Given the description of an element on the screen output the (x, y) to click on. 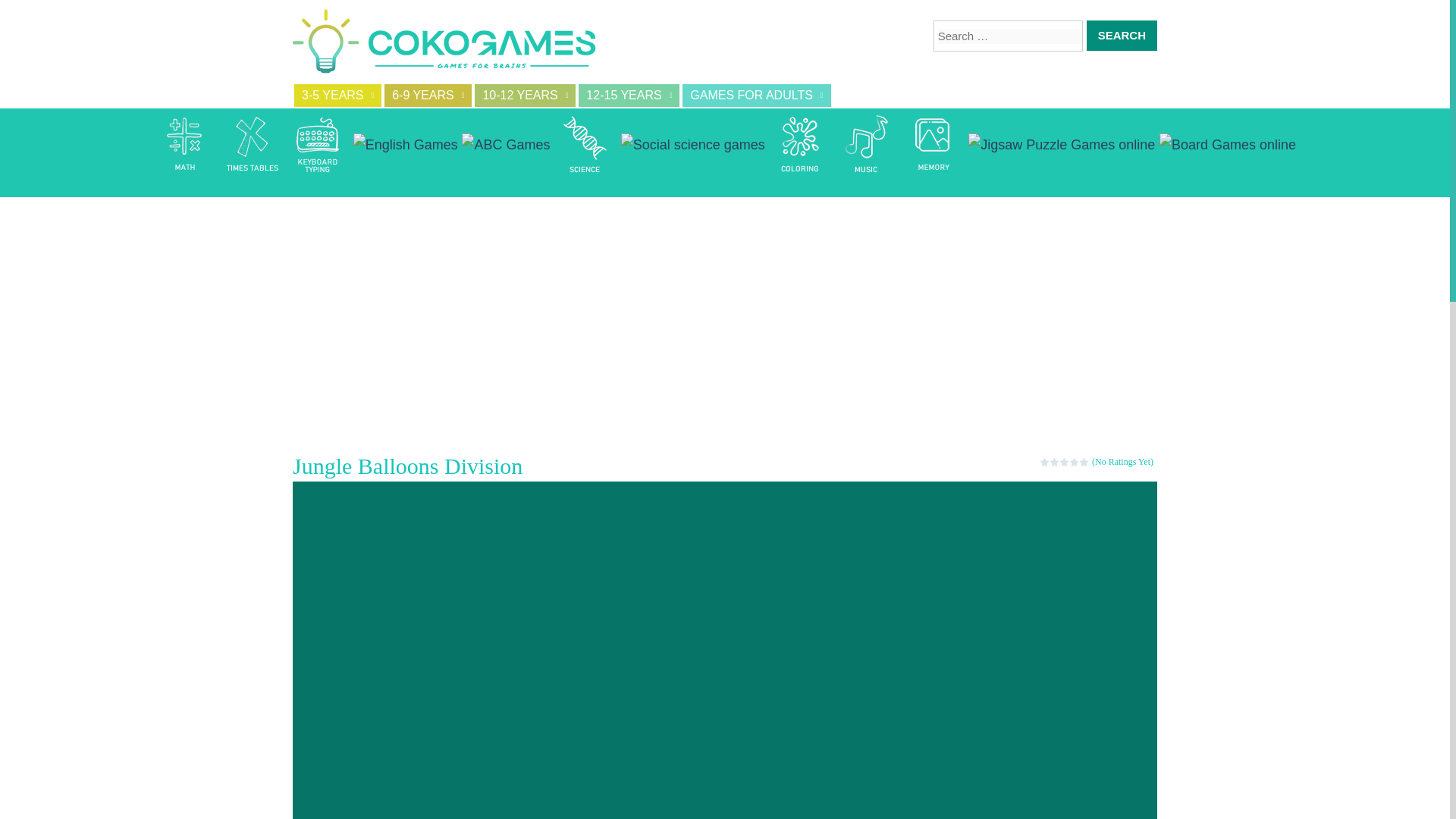
Science Games (584, 143)
3-5 YEARS (337, 95)
3 Stars (1064, 461)
2 Stars (1054, 461)
Times tables Games (251, 143)
5 Stars (1084, 461)
English Games (405, 143)
Search (1121, 35)
Cokogames educational games (443, 43)
Board Games online (1226, 143)
4 Stars (1075, 461)
Search (1121, 35)
Search (1121, 35)
Cokogames educational games (443, 45)
Jigsaw Puzzle Games online (1061, 143)
